Given the description of an element on the screen output the (x, y) to click on. 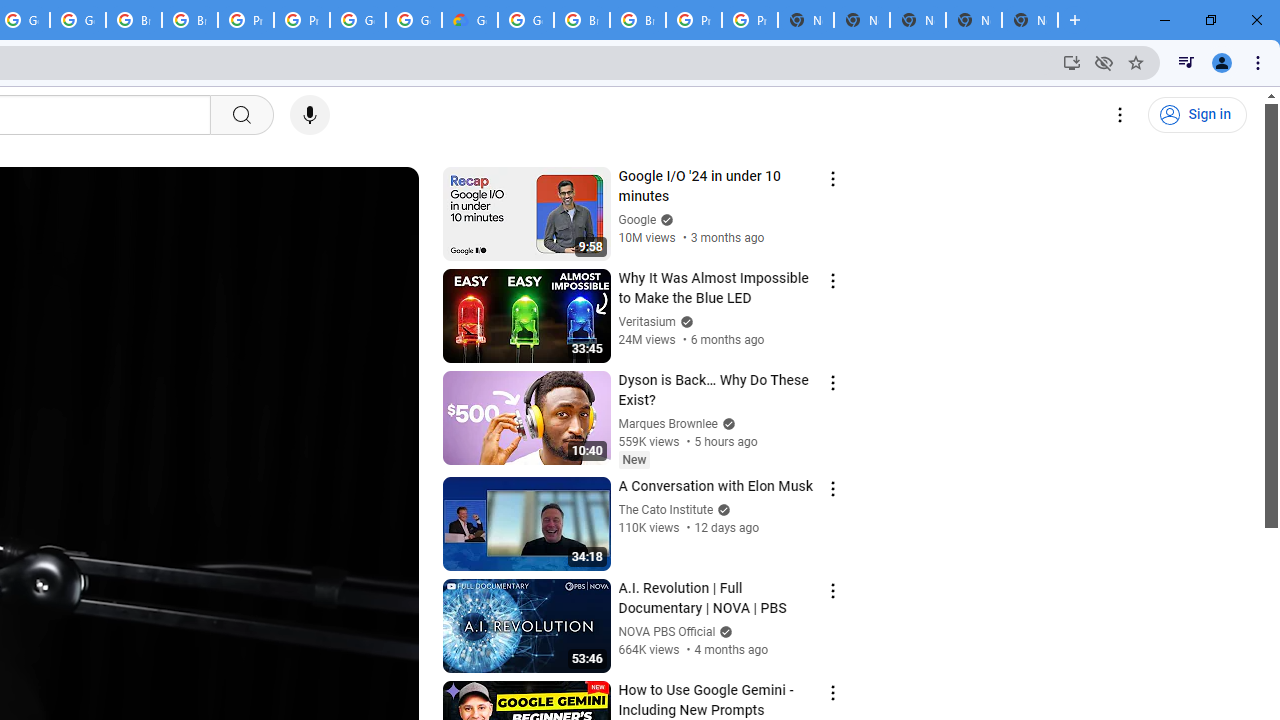
New (634, 459)
Search with your voice (309, 115)
Install YouTube (1071, 62)
Verified (724, 631)
